Given the description of an element on the screen output the (x, y) to click on. 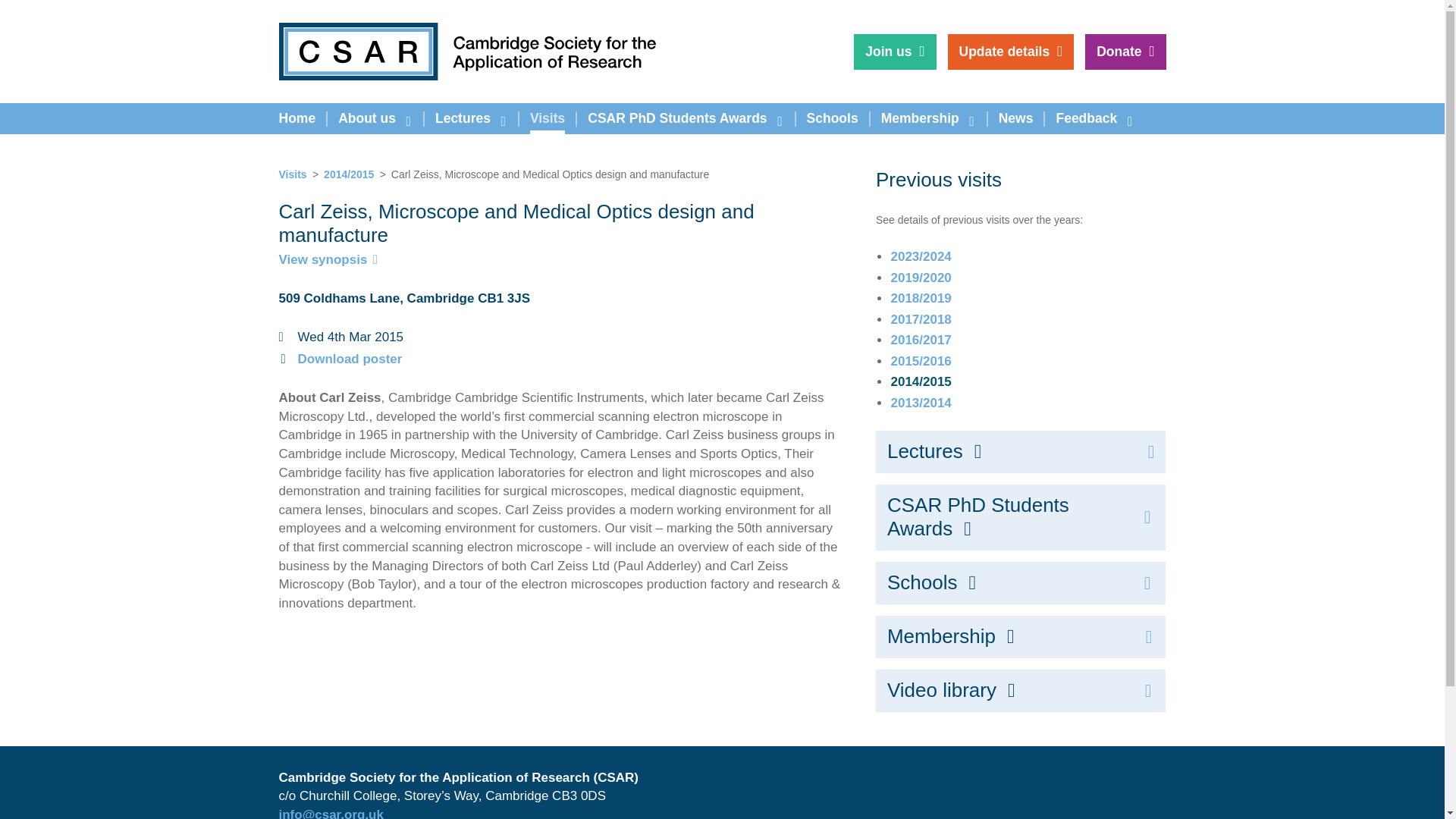
Visits (547, 118)
Donate (1125, 51)
Lectures (470, 118)
Feedback (1093, 118)
News (1016, 118)
View synopsis (328, 259)
Home (296, 118)
Join us (894, 51)
About us (374, 118)
CSAR PhD Students Awards (685, 118)
Membership (928, 118)
Update details (1010, 51)
Download poster (349, 359)
Schools (831, 118)
Visits (293, 174)
